Given the description of an element on the screen output the (x, y) to click on. 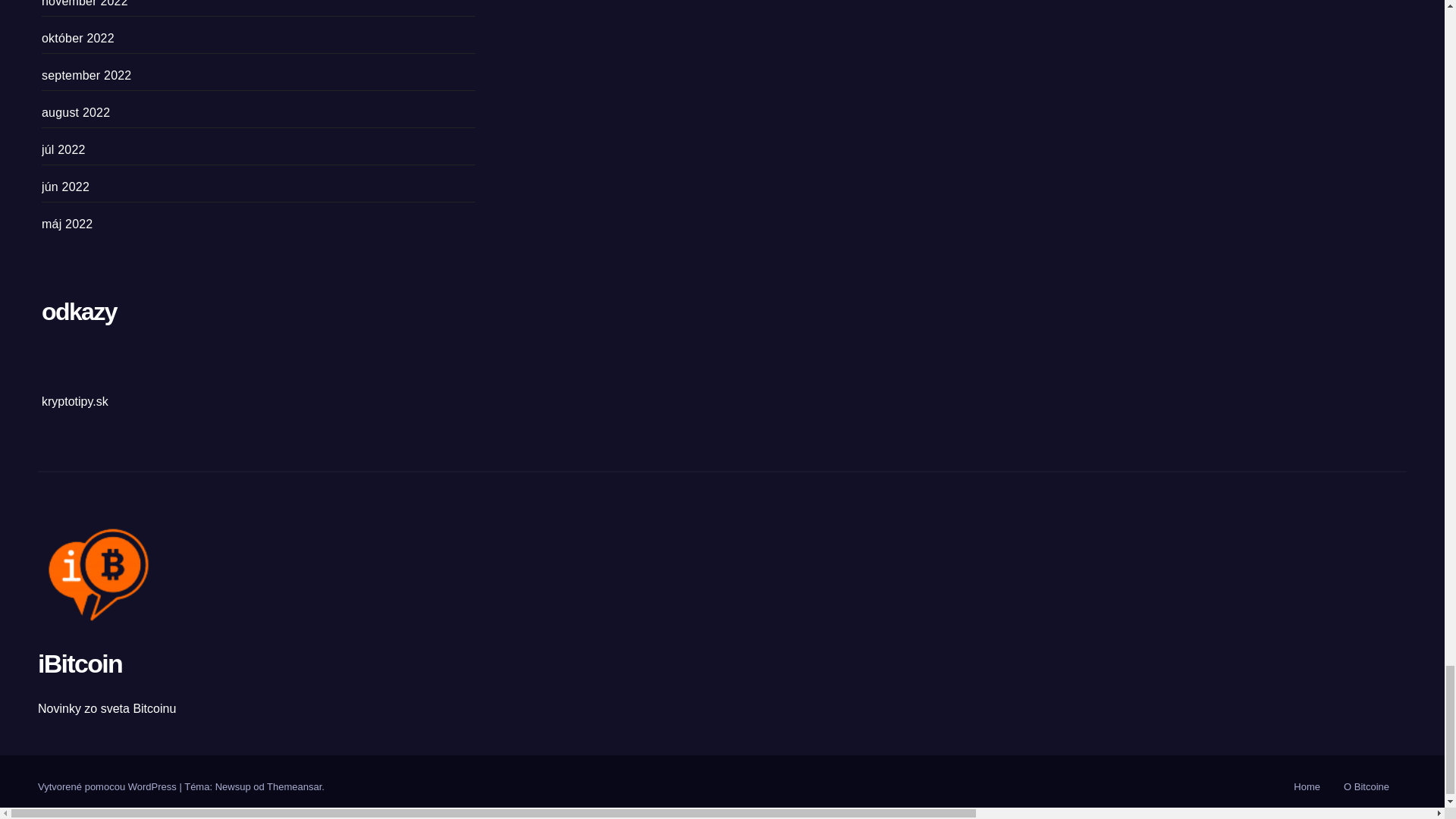
Home (1306, 786)
